Given the description of an element on the screen output the (x, y) to click on. 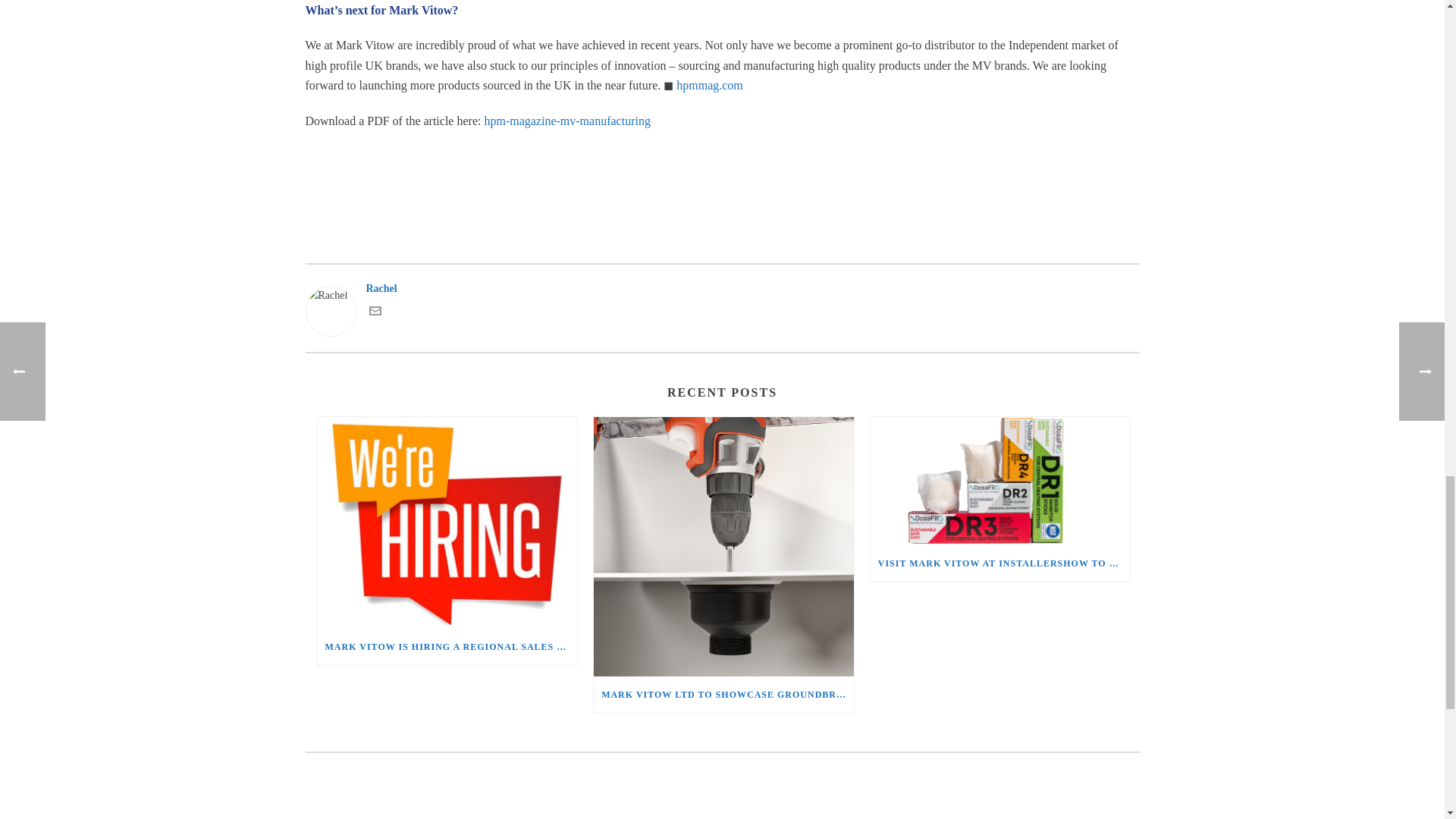
Get in touch with me via email (374, 313)
